Given the description of an element on the screen output the (x, y) to click on. 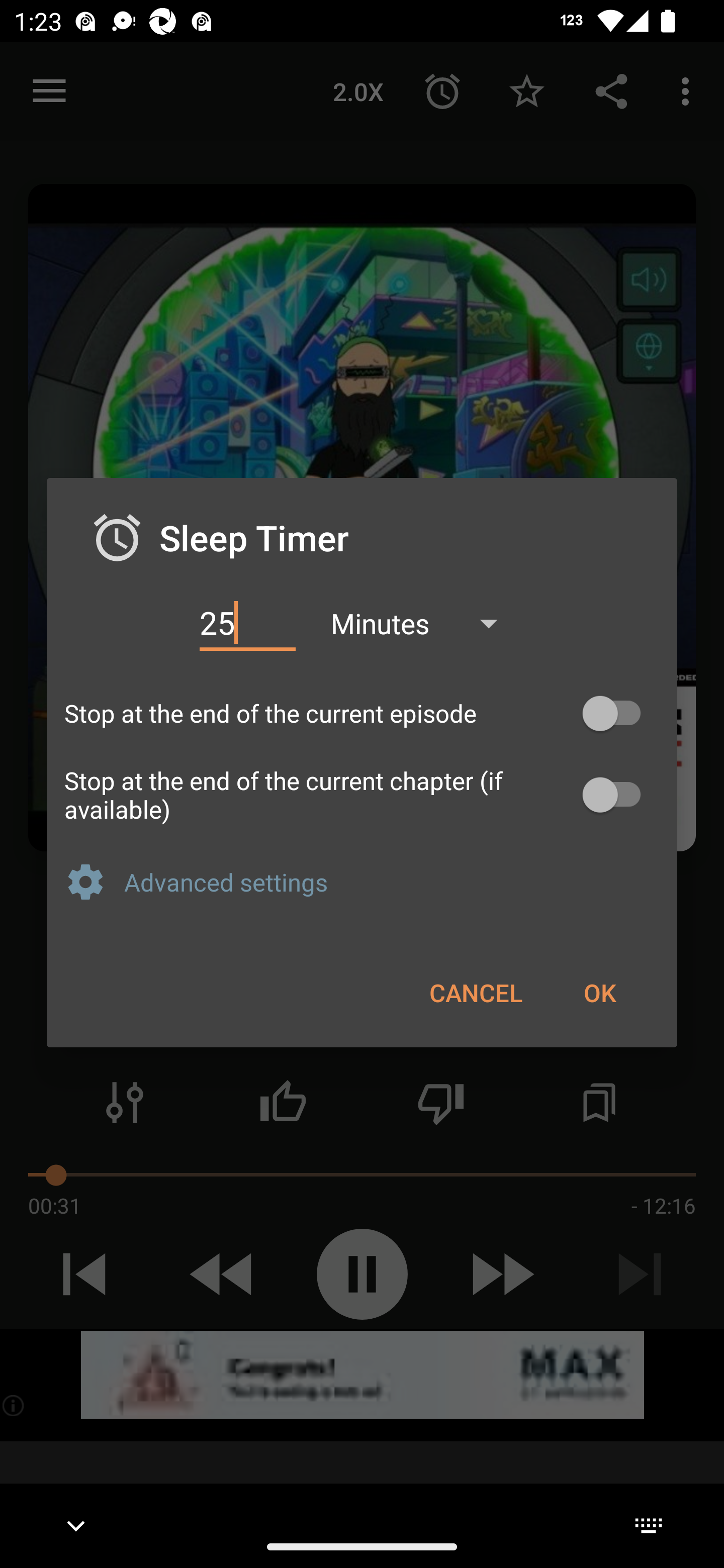
25 (247, 623)
Minutes (423, 623)
Stop at the end of the current episode (361, 712)
Advanced settings (391, 881)
CANCEL (475, 992)
OK (599, 992)
